Given the description of an element on the screen output the (x, y) to click on. 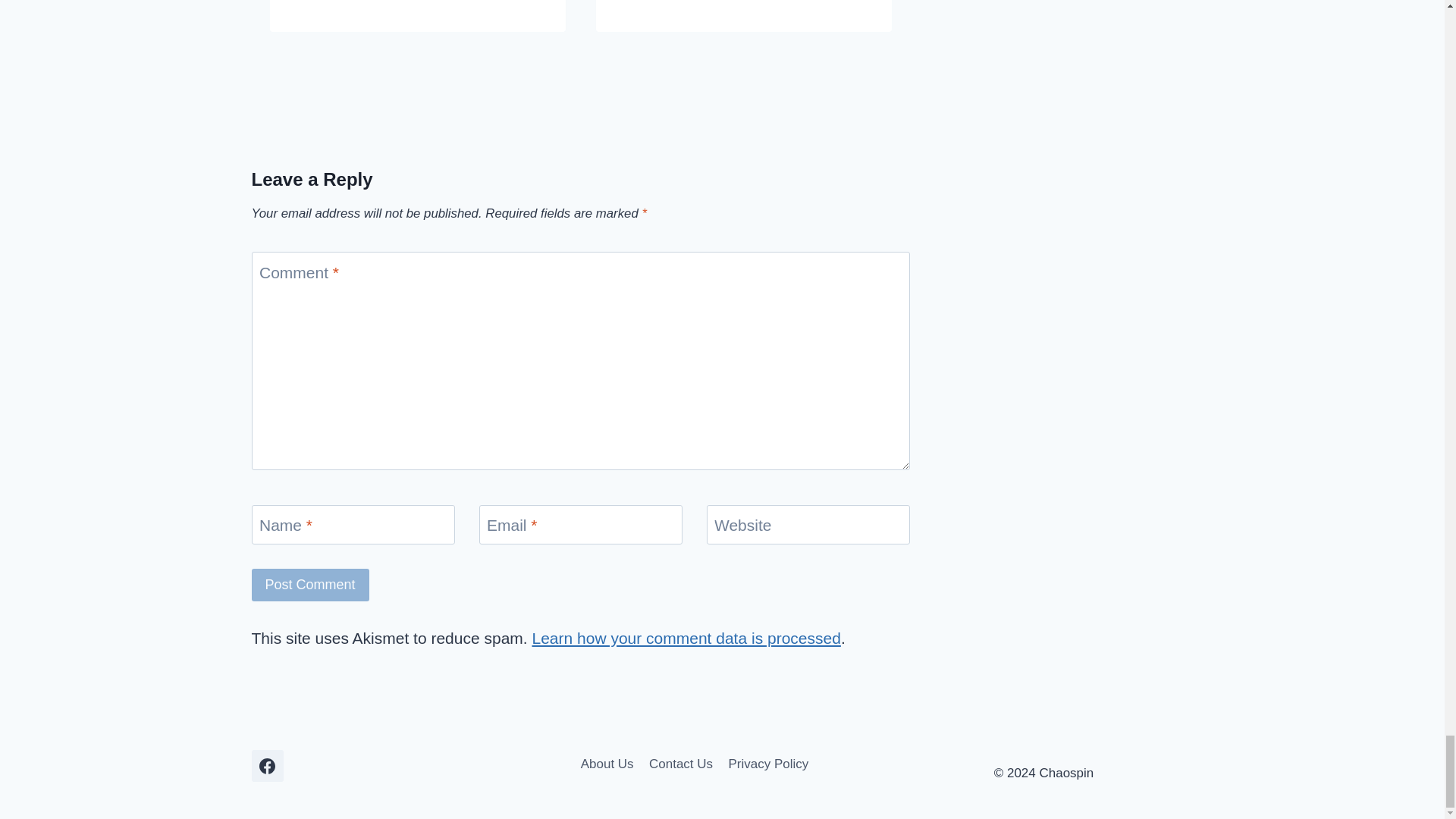
Post Comment (310, 584)
